Given the description of an element on the screen output the (x, y) to click on. 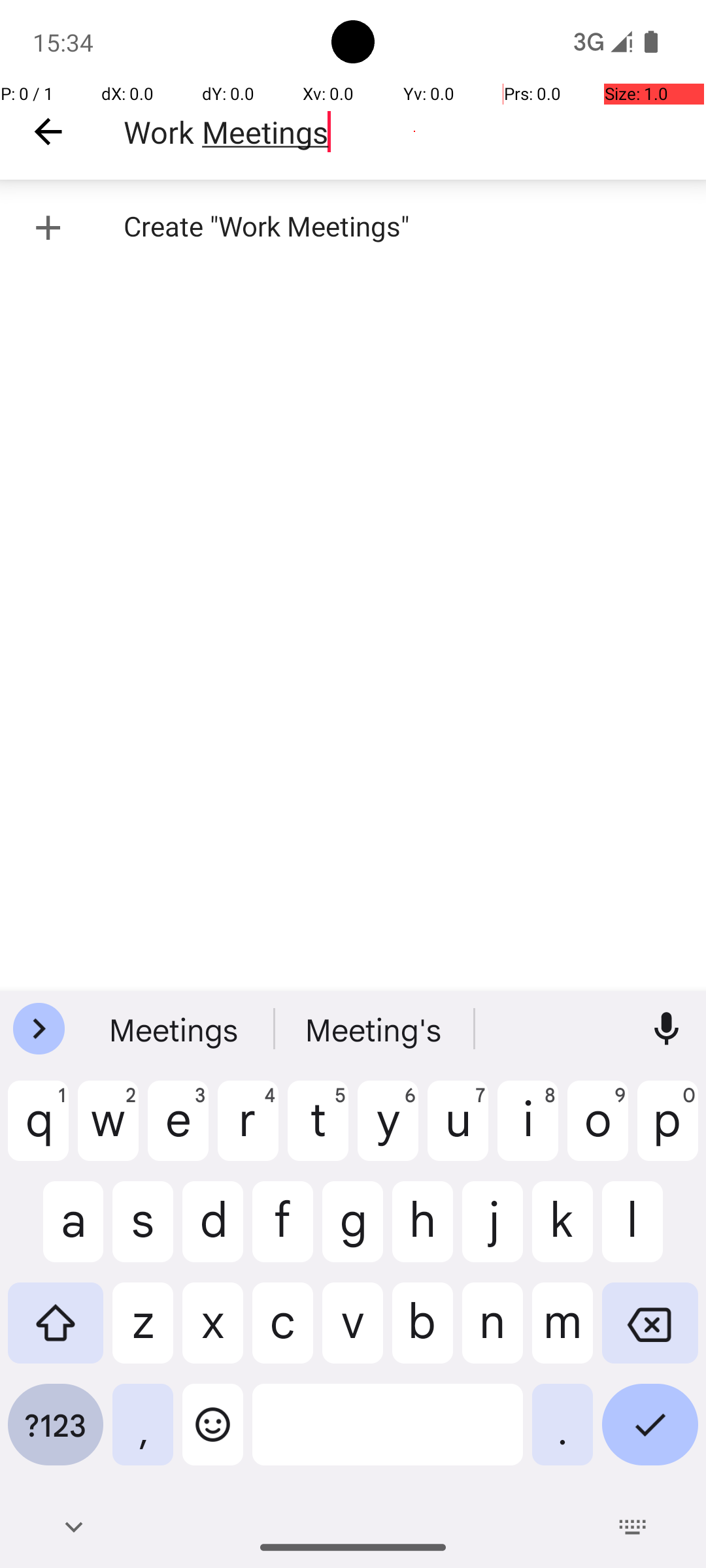
Work Meetings Element type: android.widget.EditText (414, 131)
Create "Work Meetings" Element type: android.widget.TextView (353, 227)
Meetings Element type: android.widget.FrameLayout (175, 1028)
Meeting's Element type: android.widget.FrameLayout (375, 1028)
